Given the description of an element on the screen output the (x, y) to click on. 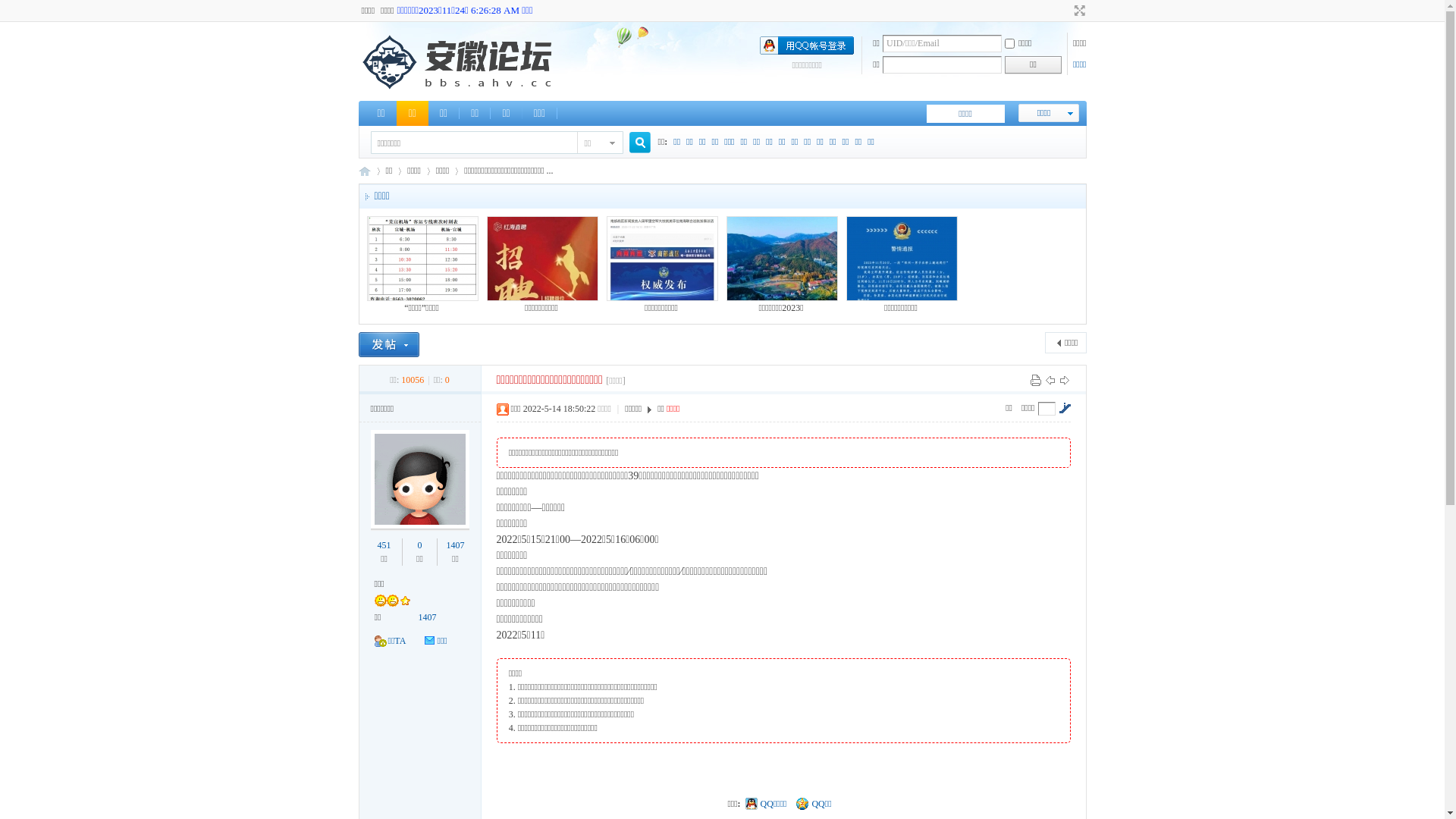
1407 Element type: text (427, 616)
true Element type: text (634, 142)
451 Element type: text (384, 544)
1407 Element type: text (454, 544)
0 Element type: text (419, 544)
